Given the description of an element on the screen output the (x, y) to click on. 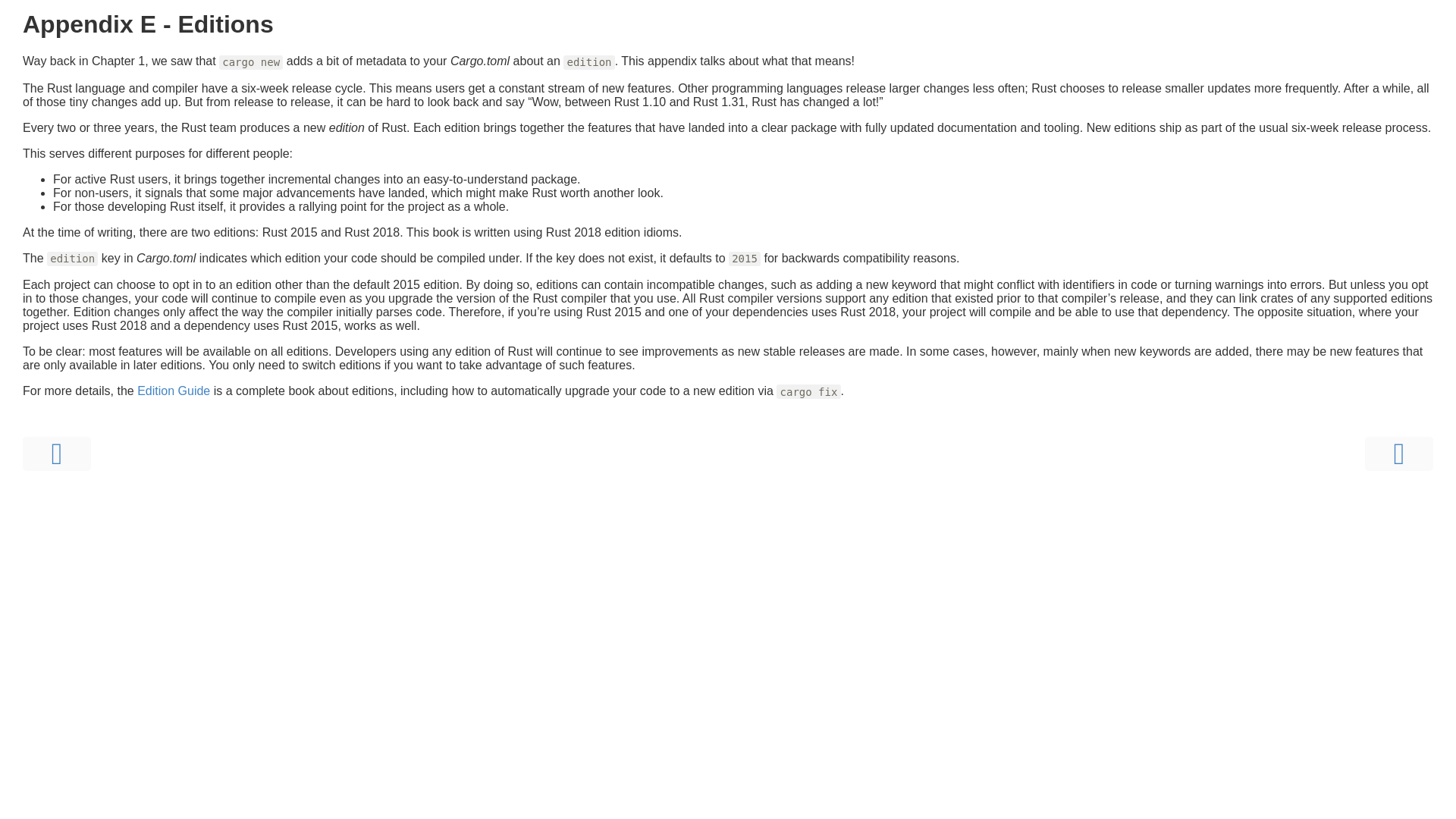
Next chapter (1398, 453)
Previous chapter (56, 453)
